Given the description of an element on the screen output the (x, y) to click on. 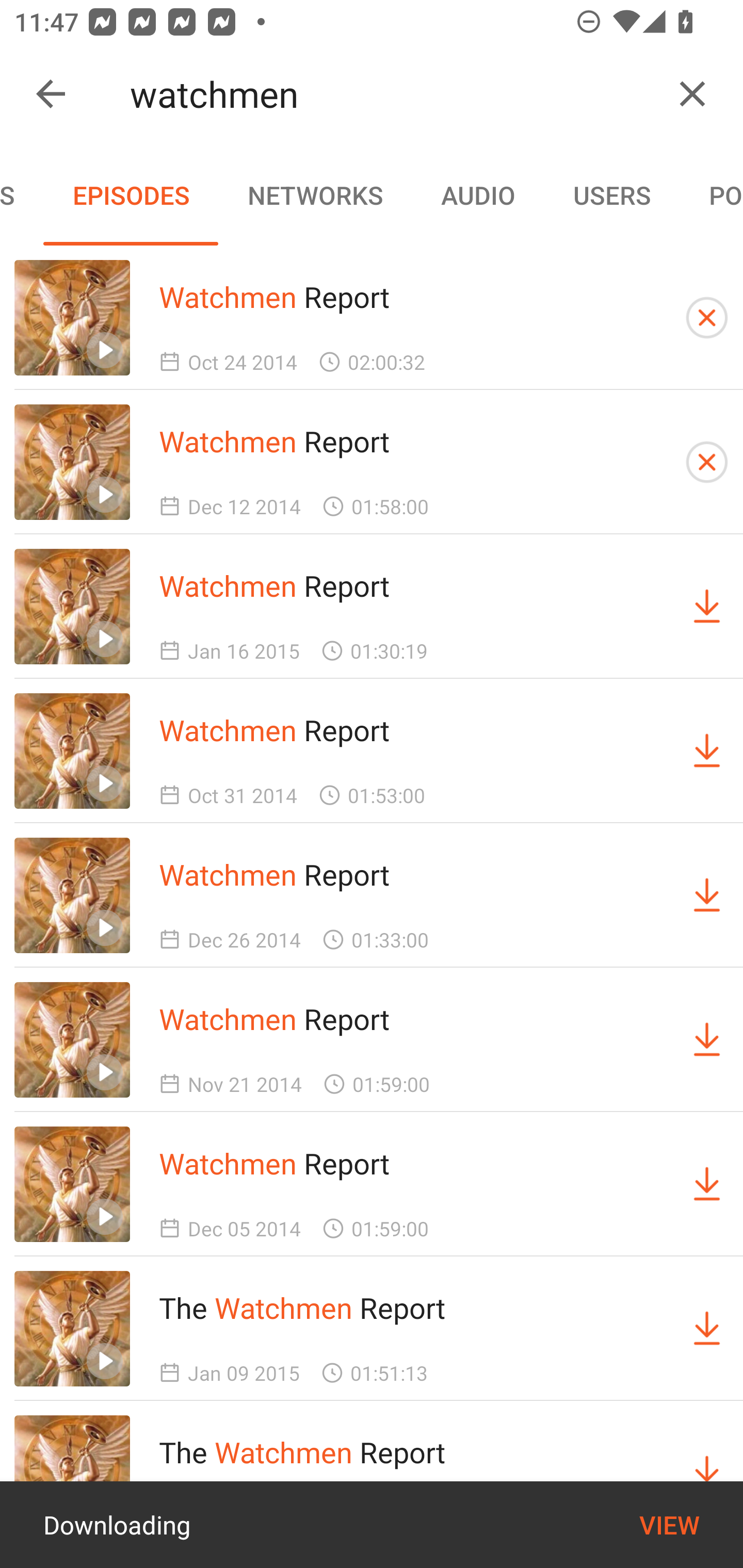
Collapse (50, 93)
Clear query (692, 93)
watchmen (393, 94)
EPISODES (130, 195)
NETWORKS (314, 195)
AUDIO (477, 195)
USERS (611, 195)
Cancel Downloading (706, 317)
Cancel Downloading (706, 462)
Download (706, 606)
Download (706, 751)
Download (706, 895)
Download (706, 1039)
Download (706, 1183)
Download (706, 1328)
Downloading VIEW (371, 1524)
VIEW (669, 1524)
